Given the description of an element on the screen output the (x, y) to click on. 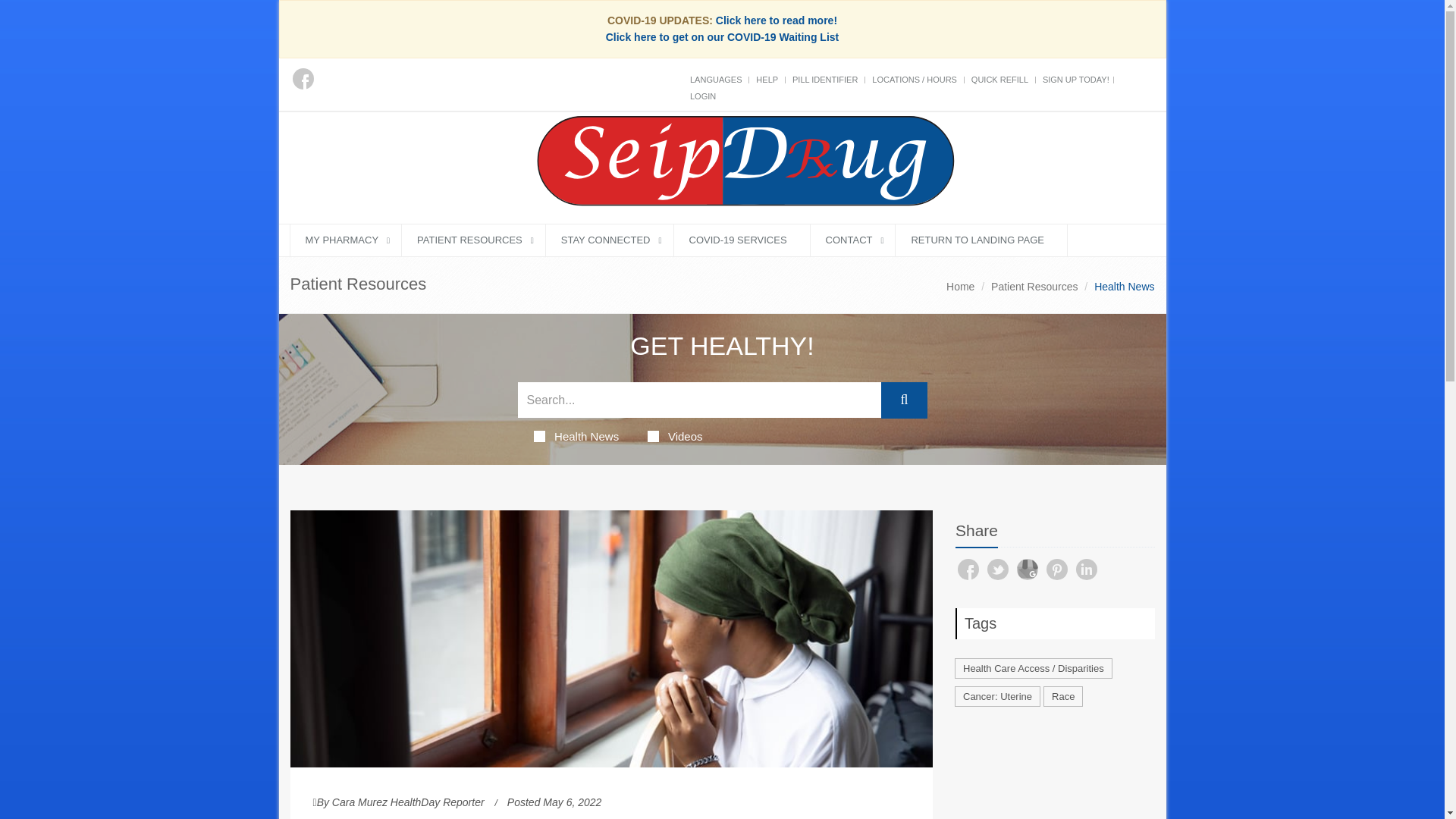
LOGIN (703, 95)
Click here to read more! (776, 20)
PATIENT RESOURCES (472, 239)
HELP (766, 79)
MY PHARMACY (345, 239)
STAY CONNECTED (609, 239)
Click here to get on our COVID-19 Waiting List (722, 37)
COVID-19 SERVICES (741, 239)
LANGUAGES (715, 79)
PILL IDENTIFIER (824, 79)
